Given the description of an element on the screen output the (x, y) to click on. 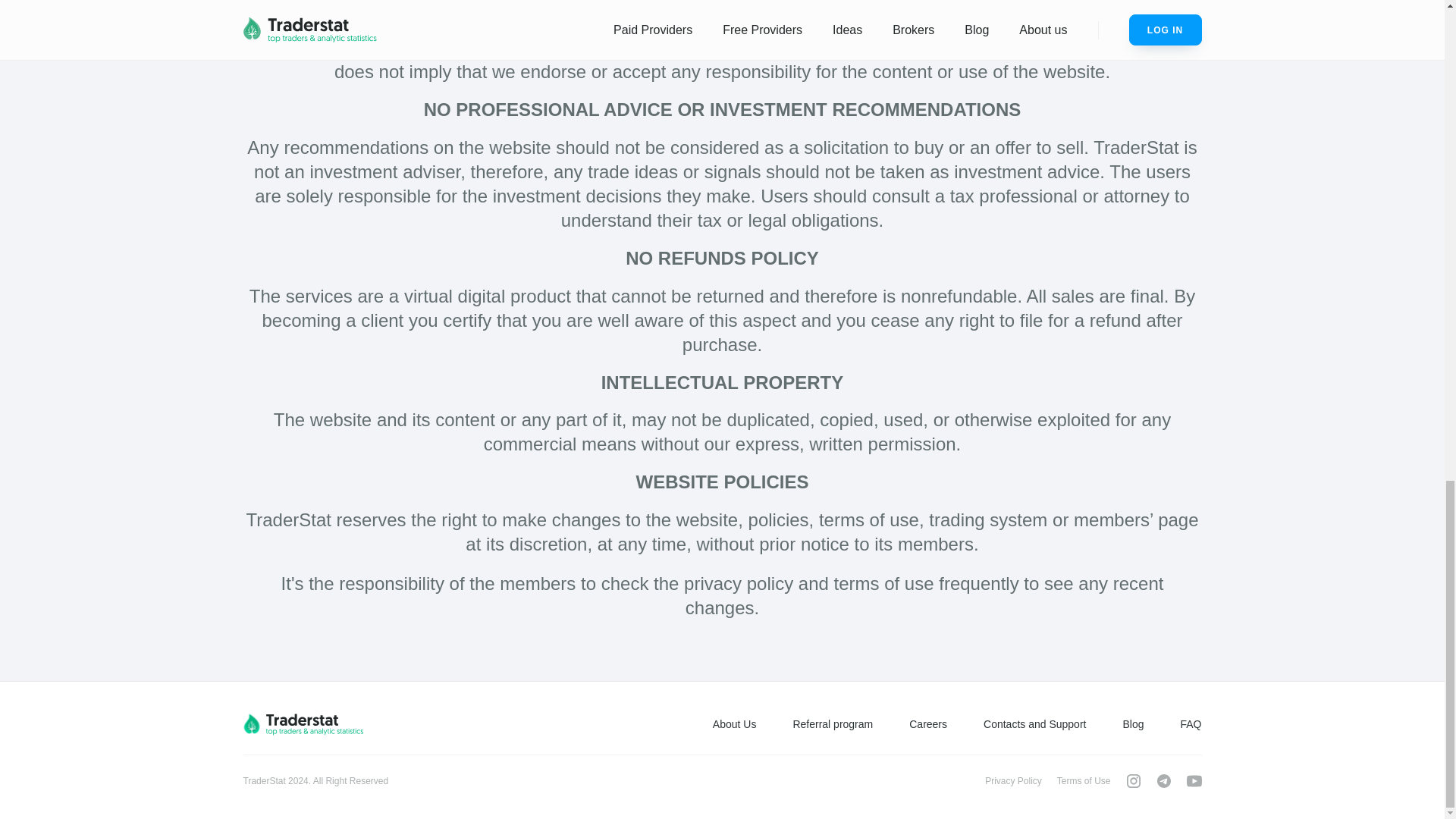
Privacy Policy (1013, 780)
Contacts and Support (1035, 724)
Careers (927, 724)
Referral program (832, 724)
Terms of Use (1083, 780)
FAQ (1190, 724)
About Us (735, 724)
Blog (1132, 724)
